Given the description of an element on the screen output the (x, y) to click on. 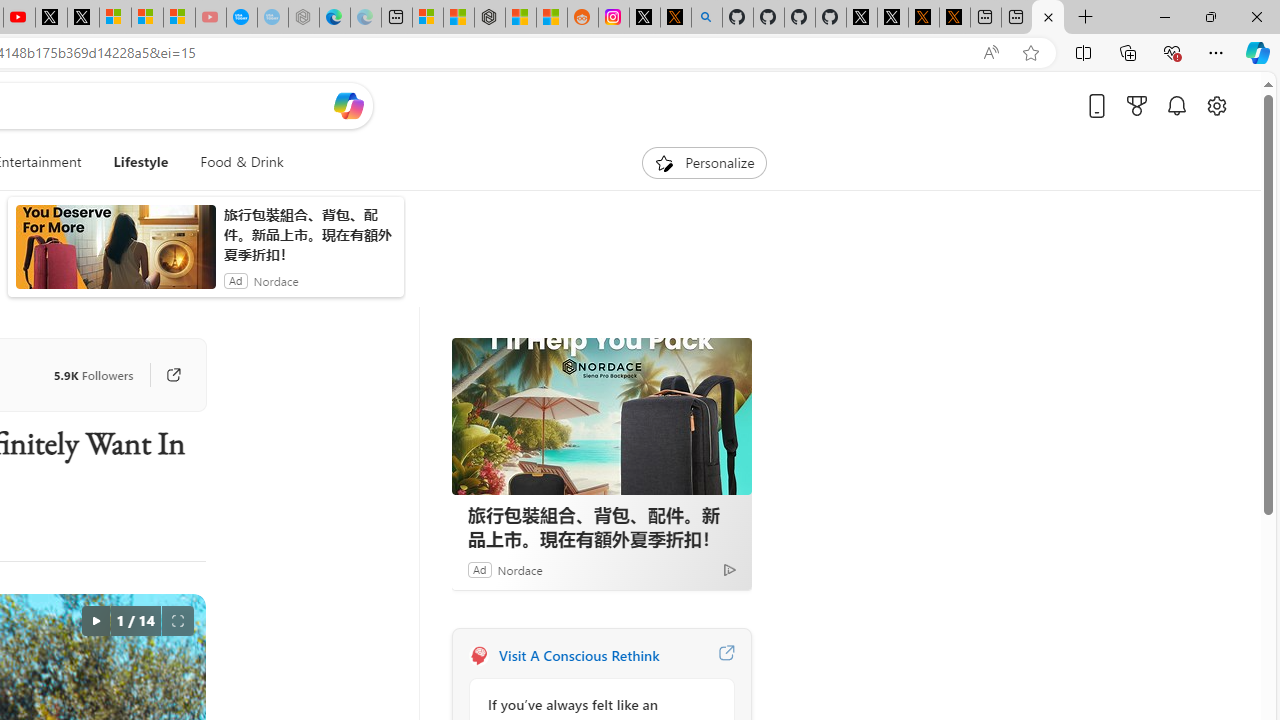
X Privacy Policy (923, 17)
Nordace - Nordace has arrived Hong Kong - Sleeping (272, 17)
Page settings (1216, 138)
Profile / X (830, 17)
X (55, 17)
Ad (261, 224)
Traffic (155, 267)
Larger map  (616, 495)
Travel (95, 267)
